Given the description of an element on the screen output the (x, y) to click on. 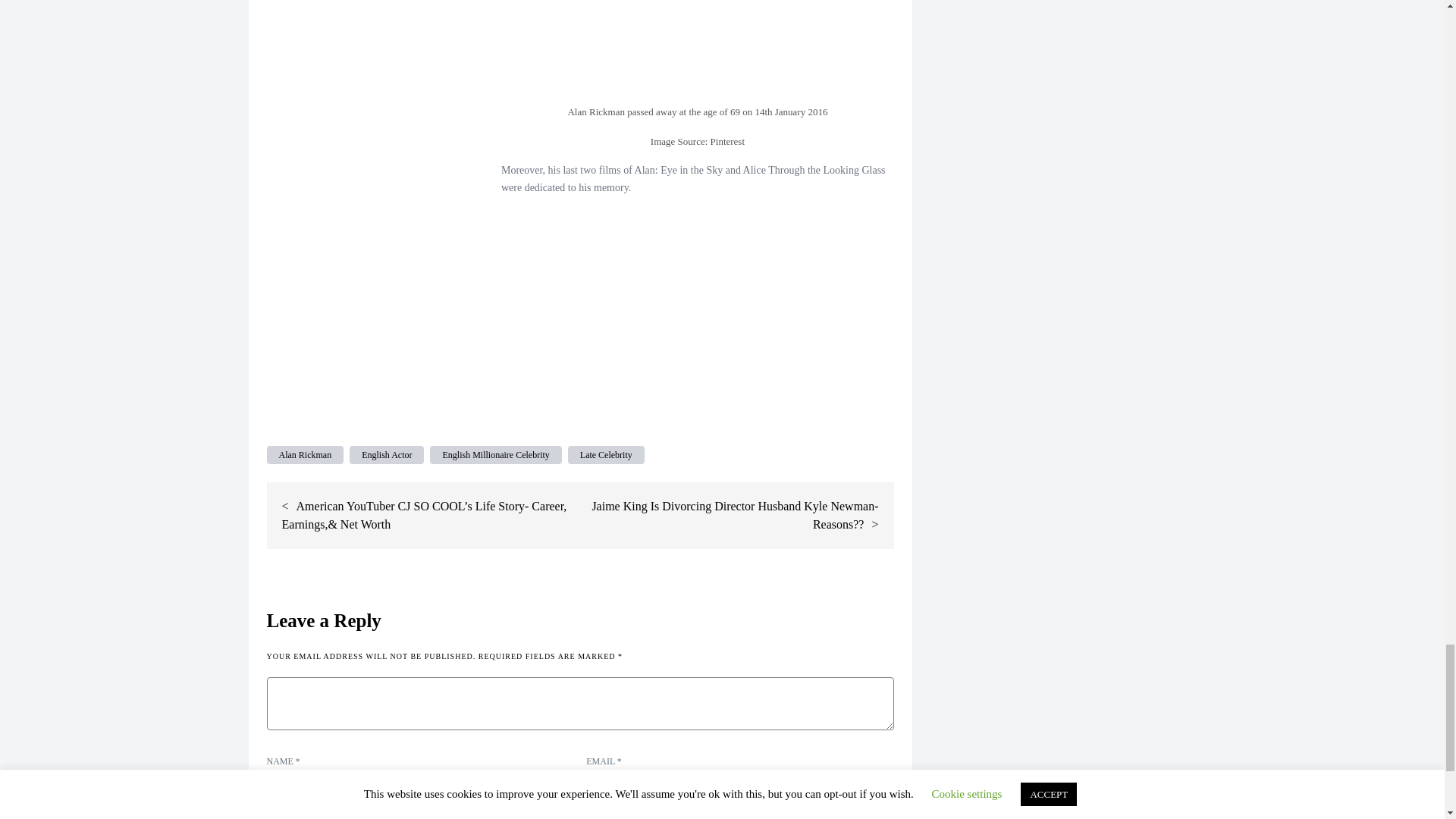
English Actor (386, 454)
Late Celebrity (606, 454)
English Millionaire Celebrity (494, 454)
Alan Rickman (304, 454)
